Given the description of an element on the screen output the (x, y) to click on. 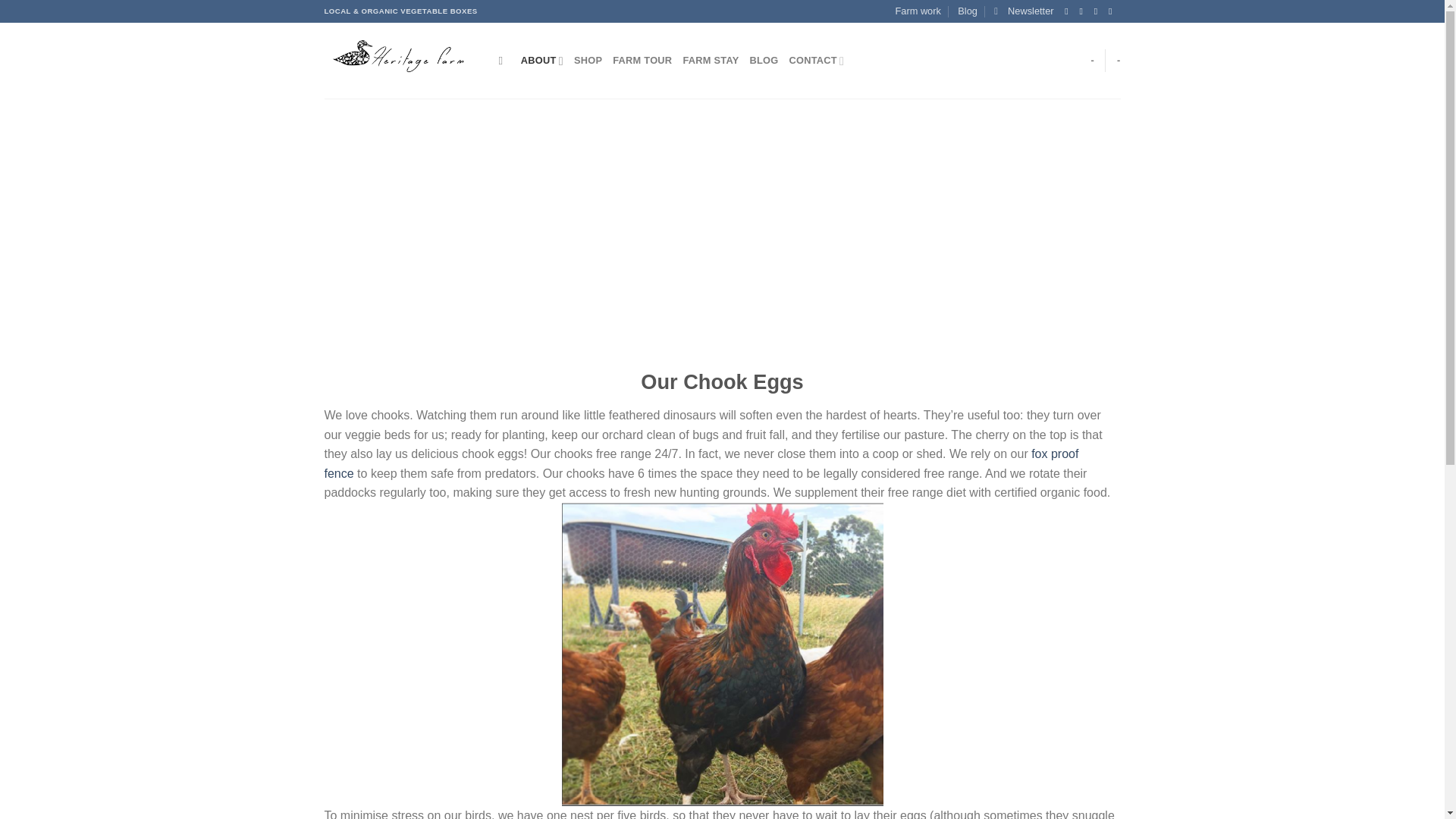
FARM TOUR (641, 60)
SHOP (587, 60)
ABOUT (542, 60)
Farm work (917, 11)
fox proof fence (701, 463)
Heritage Farm (400, 60)
FARM STAY (710, 60)
Newsletter (1023, 11)
BLOG (763, 60)
